Given the description of an element on the screen output the (x, y) to click on. 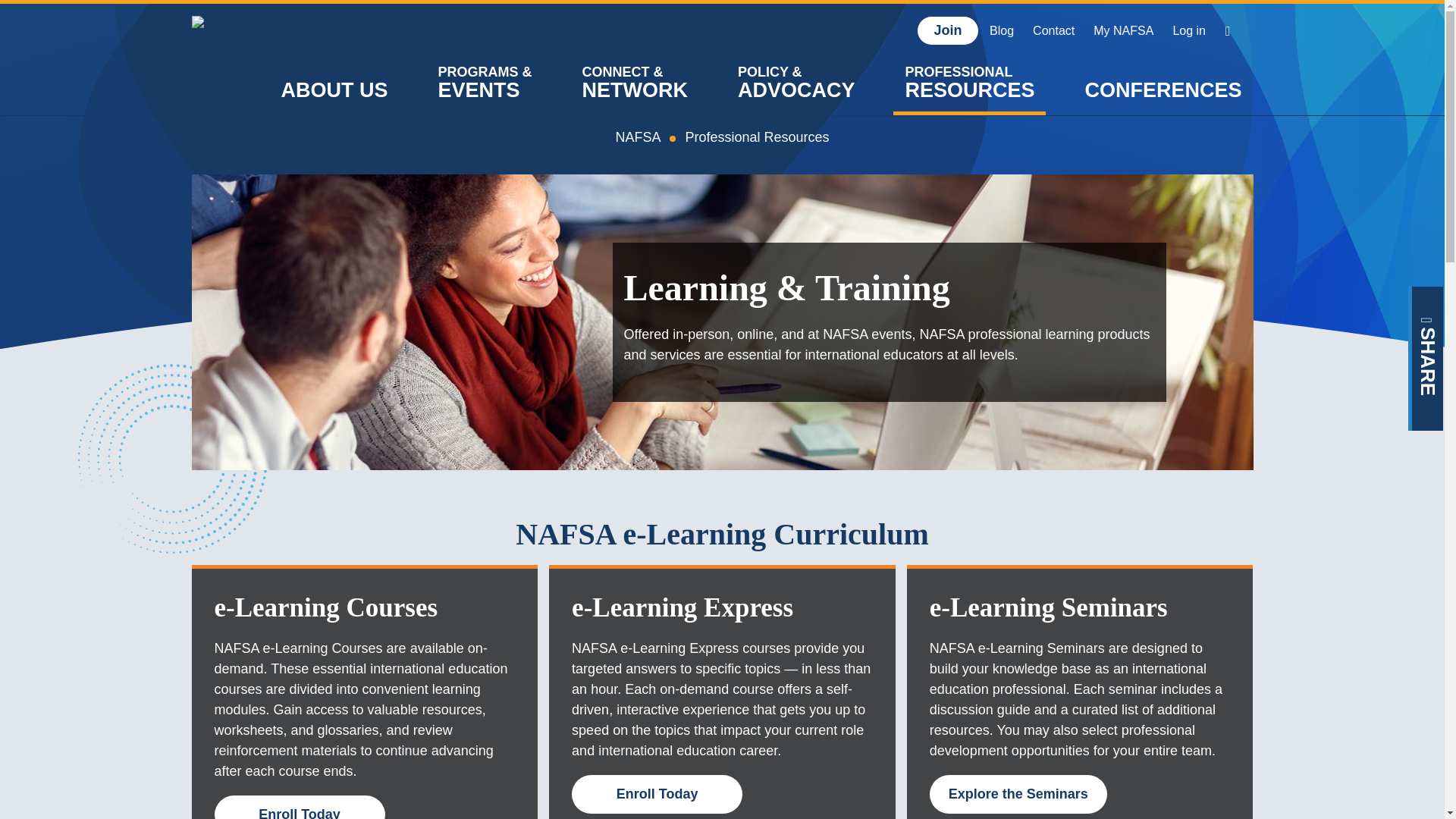
NETWORK (634, 81)
EVENTS (484, 81)
ABOUT US (333, 81)
ADVOCACY (796, 81)
